Given the description of an element on the screen output the (x, y) to click on. 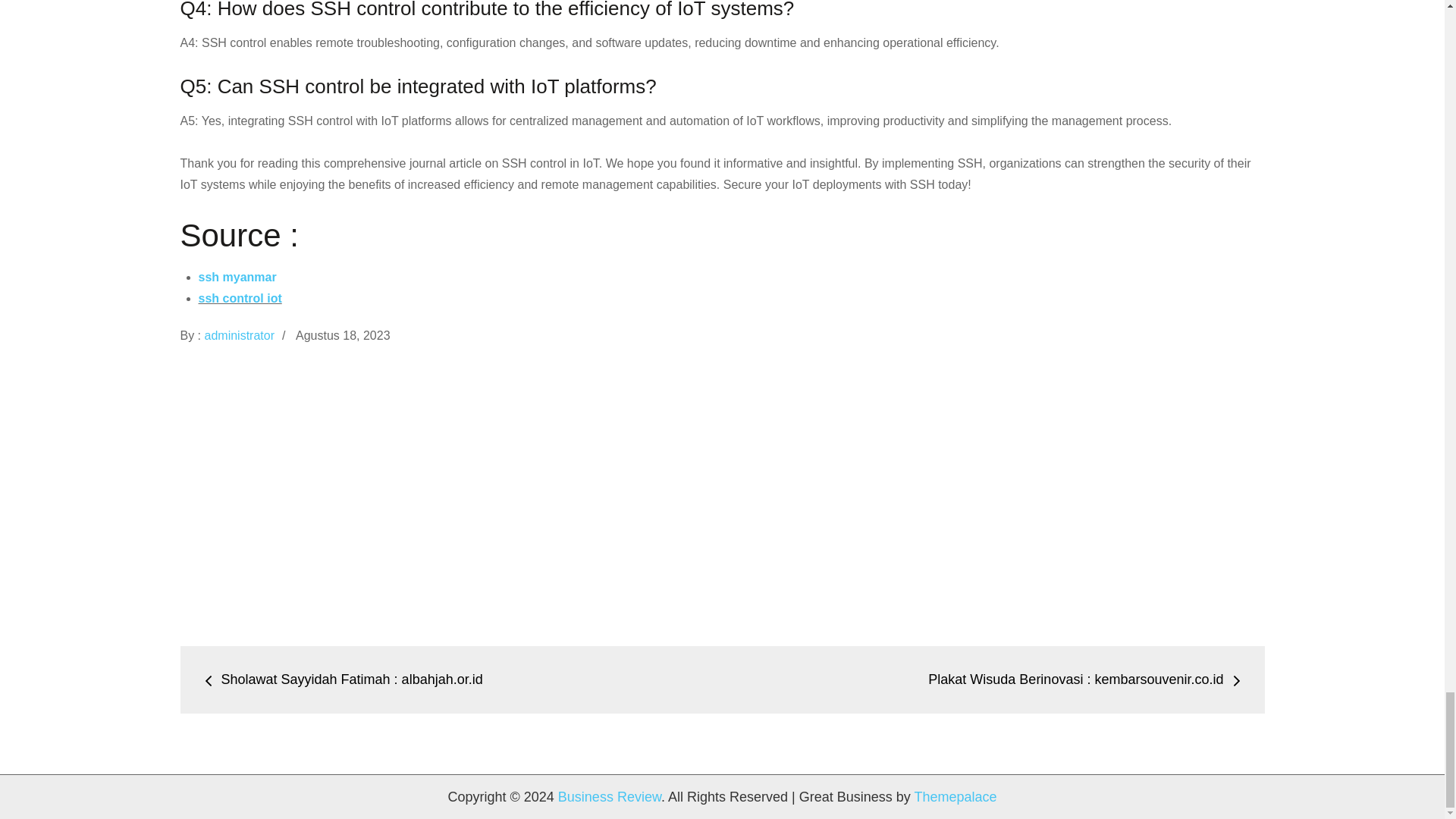
ssh control iot (240, 297)
Agustus 18, 2023 (342, 335)
Themepalace (954, 796)
Plakat Wisuda Berinovasi : kembarsouvenir.co.id (1084, 679)
ssh myanmar (237, 277)
Business Review (609, 796)
administrator (240, 335)
Sholawat Sayyidah Fatimah : albahjah.or.id (343, 679)
